Given the description of an element on the screen output the (x, y) to click on. 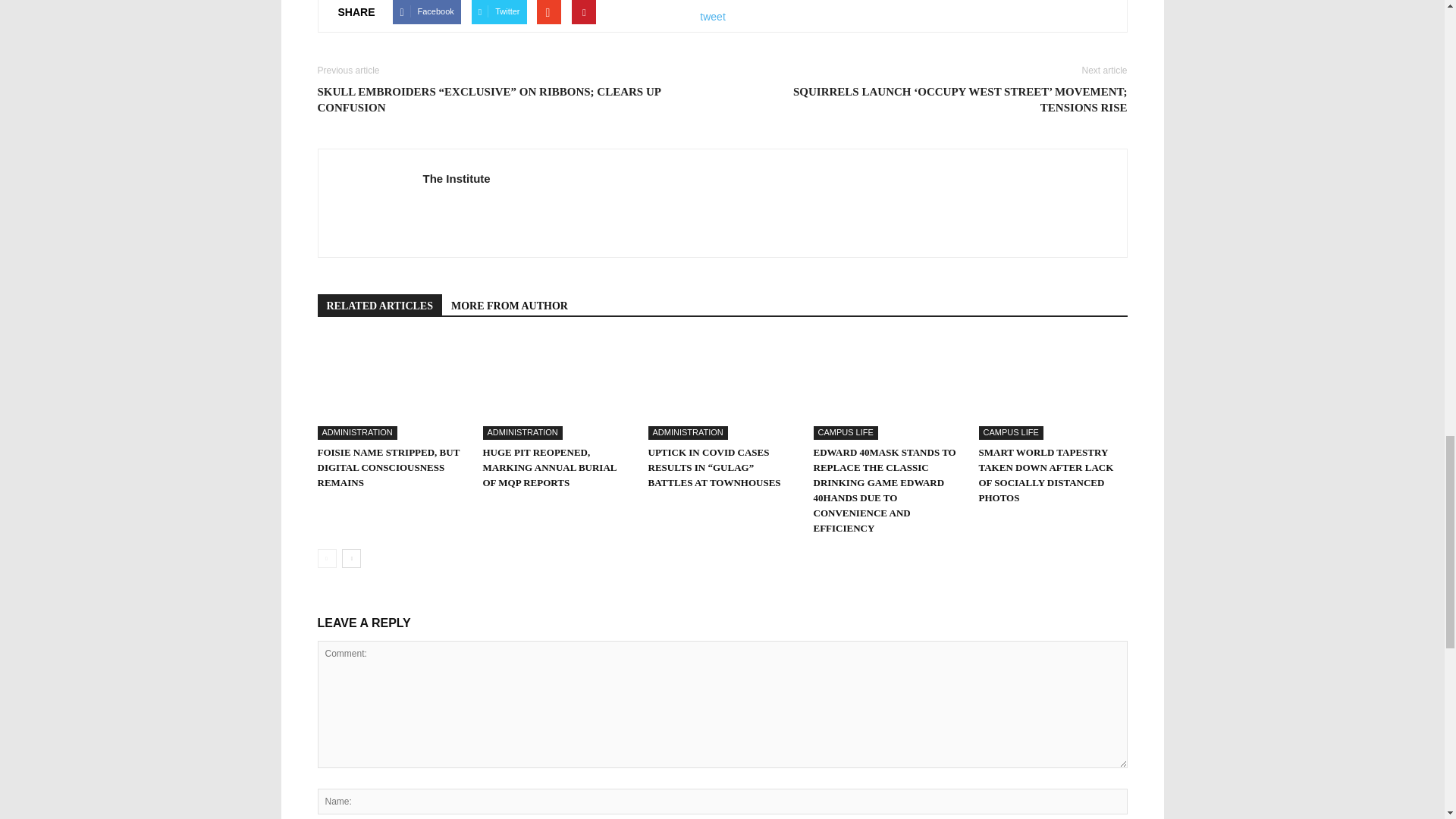
Huge Pit Reopened, Marking Annual Burial of MQP Reports (555, 388)
Huge Pit Reopened, Marking Annual Burial of MQP Reports (548, 467)
Foisie Name Stripped, But Digital Consciousness Remains (391, 388)
Foisie Name Stripped, But Digital Consciousness Remains (388, 467)
